Given the description of an element on the screen output the (x, y) to click on. 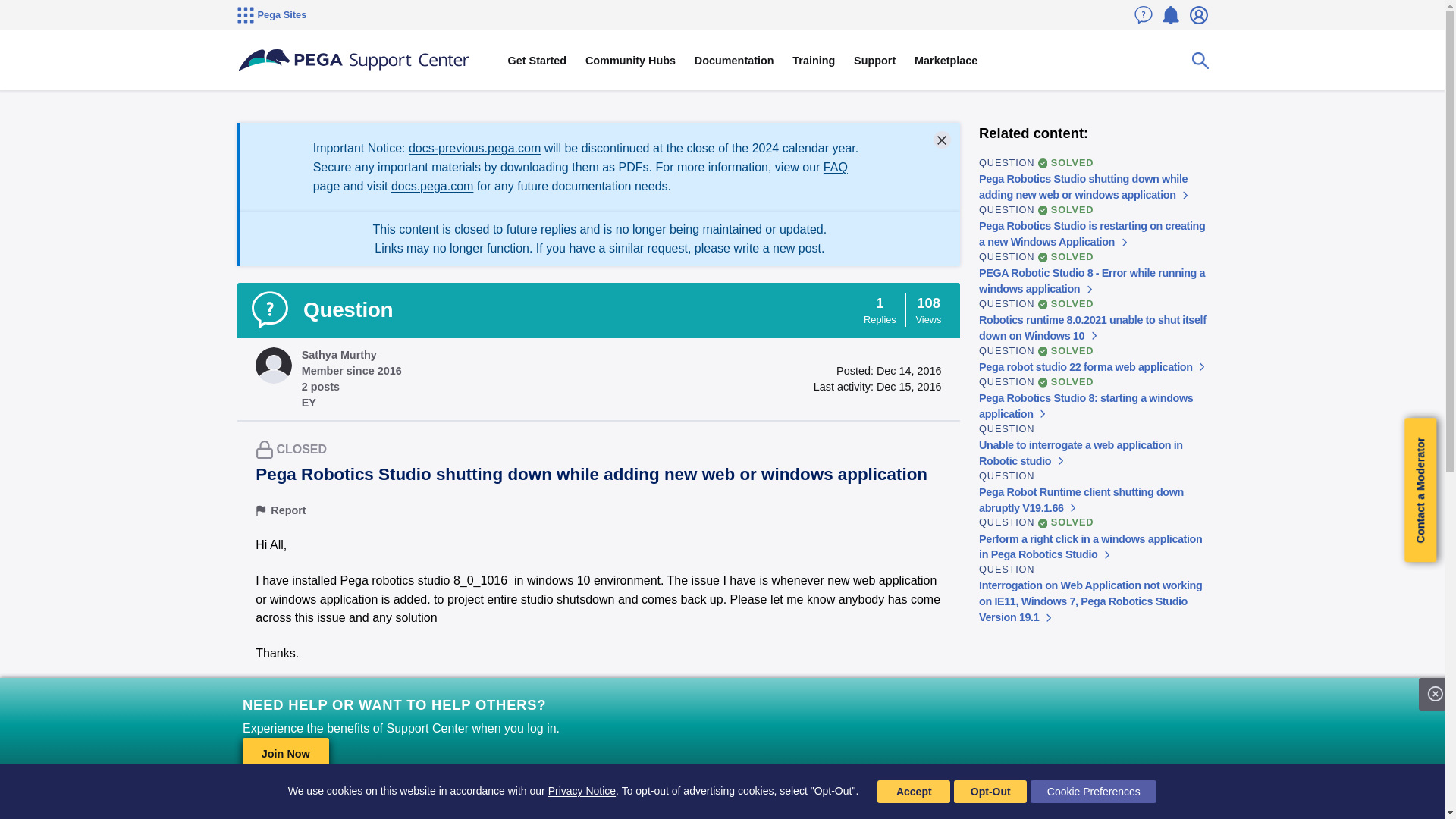
Get Started (536, 60)
Toggle Search Panel (1200, 60)
Community Hubs (630, 60)
